Given the description of an element on the screen output the (x, y) to click on. 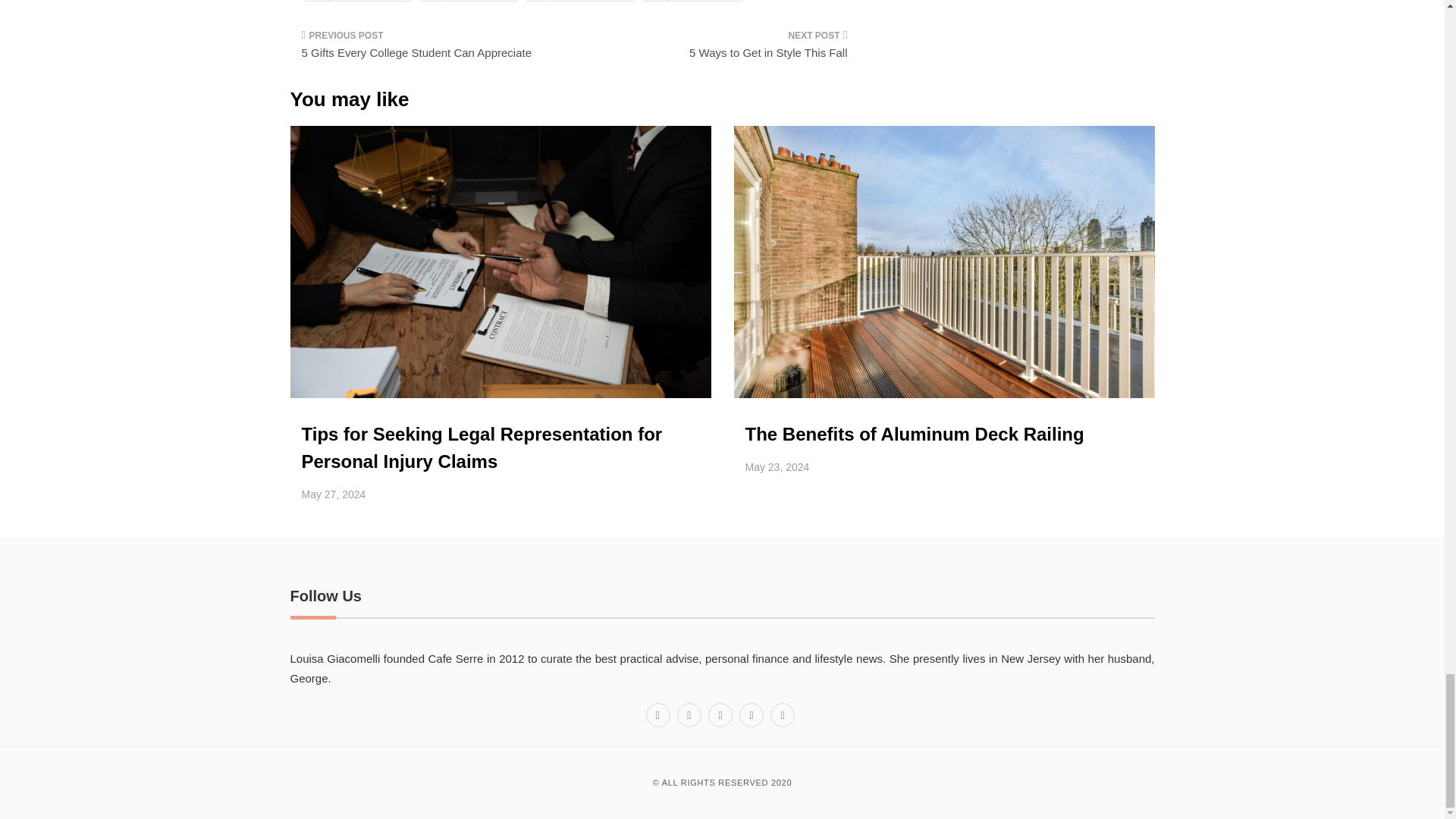
FACEBOOK (358, 0)
TWITTER (468, 0)
PINTEREST (579, 0)
LINKEDIN (692, 0)
